Given the description of an element on the screen output the (x, y) to click on. 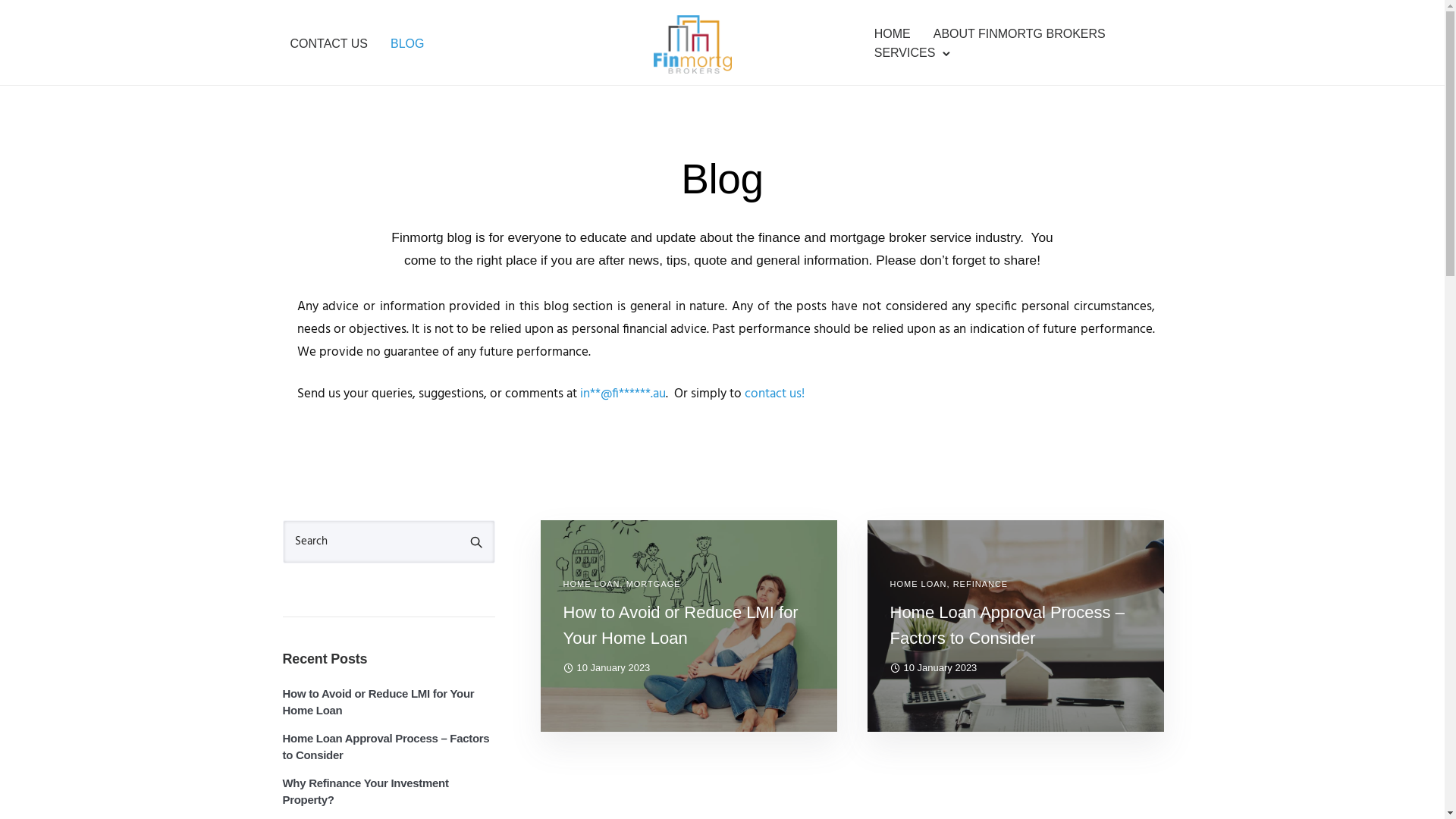
CONTACT US Element type: text (328, 43)
How to Avoid or Reduce LMI for Your Home Loan Element type: text (687, 625)
BLOG Element type: text (406, 43)
How to Avoid or Reduce LMI for Your Home Loan Element type: text (388, 701)
HOME LOAN Element type: text (918, 584)
10 January 2023 Element type: text (605, 667)
SERVICES Element type: text (904, 52)
10 January 2023 Element type: text (933, 667)
Why Refinance Your Investment Property? Element type: text (388, 791)
MORTGAGE Element type: text (653, 584)
HOME Element type: text (892, 33)
REFINANCE Element type: text (980, 584)
in**@fi******.au Element type: text (622, 393)
contact us! Element type: text (774, 393)
ABOUT FINMORTG BROKERS Element type: text (1019, 33)
HOME LOAN Element type: text (590, 584)
